Given the description of an element on the screen output the (x, y) to click on. 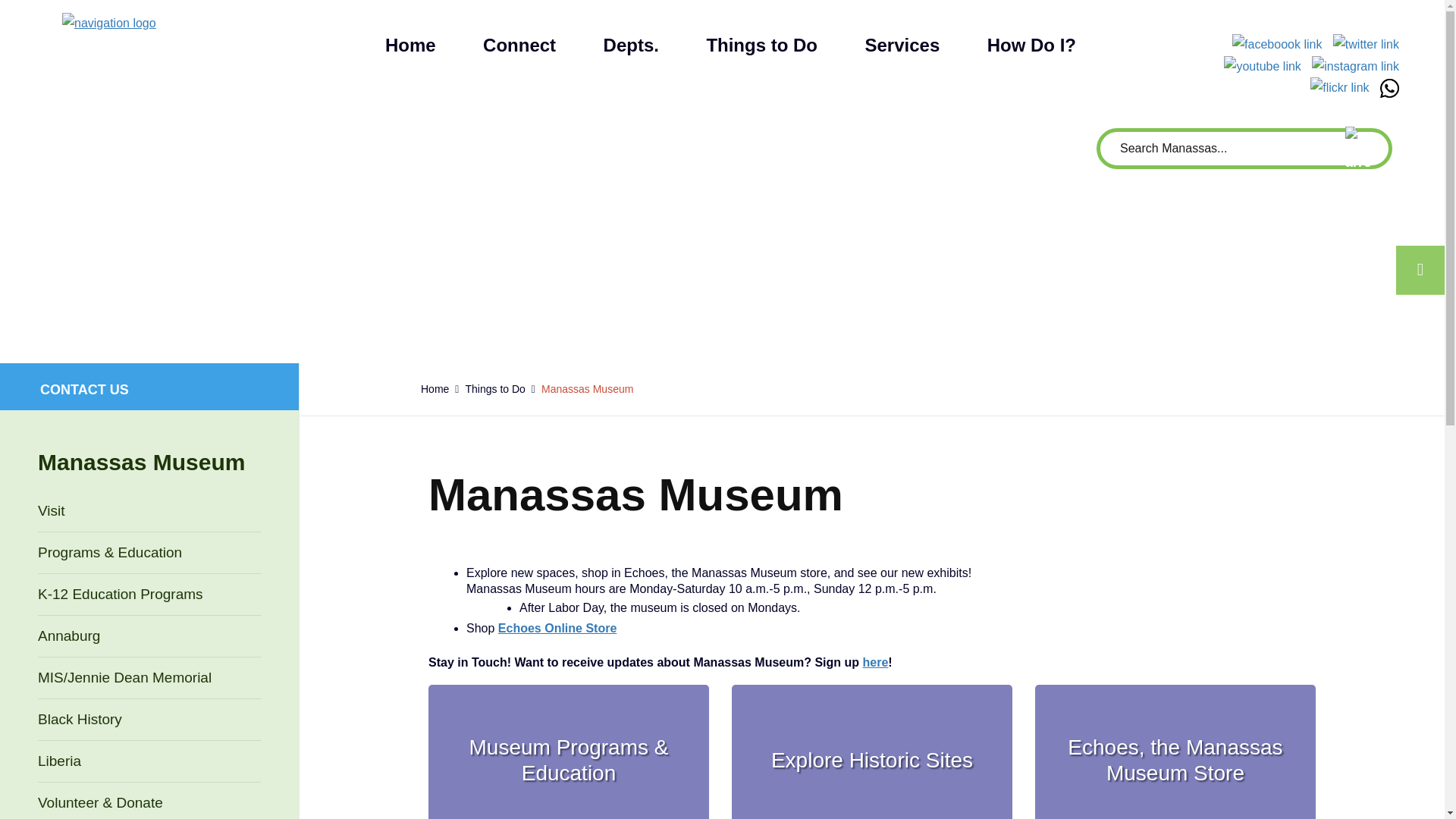
Things to Do (762, 45)
Depts. (630, 45)
Home (410, 45)
Connect (519, 45)
